Given the description of an element on the screen output the (x, y) to click on. 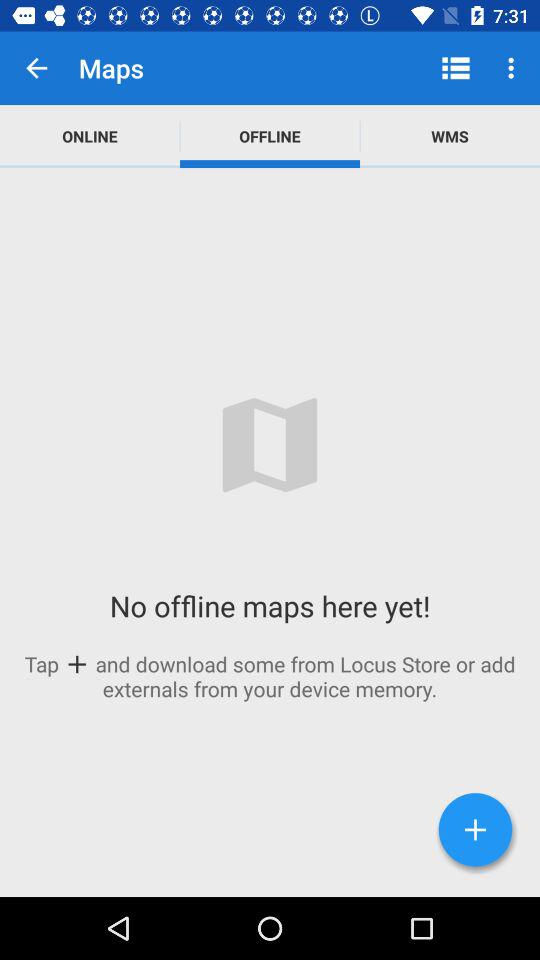
select app next to the offline icon (455, 67)
